Given the description of an element on the screen output the (x, y) to click on. 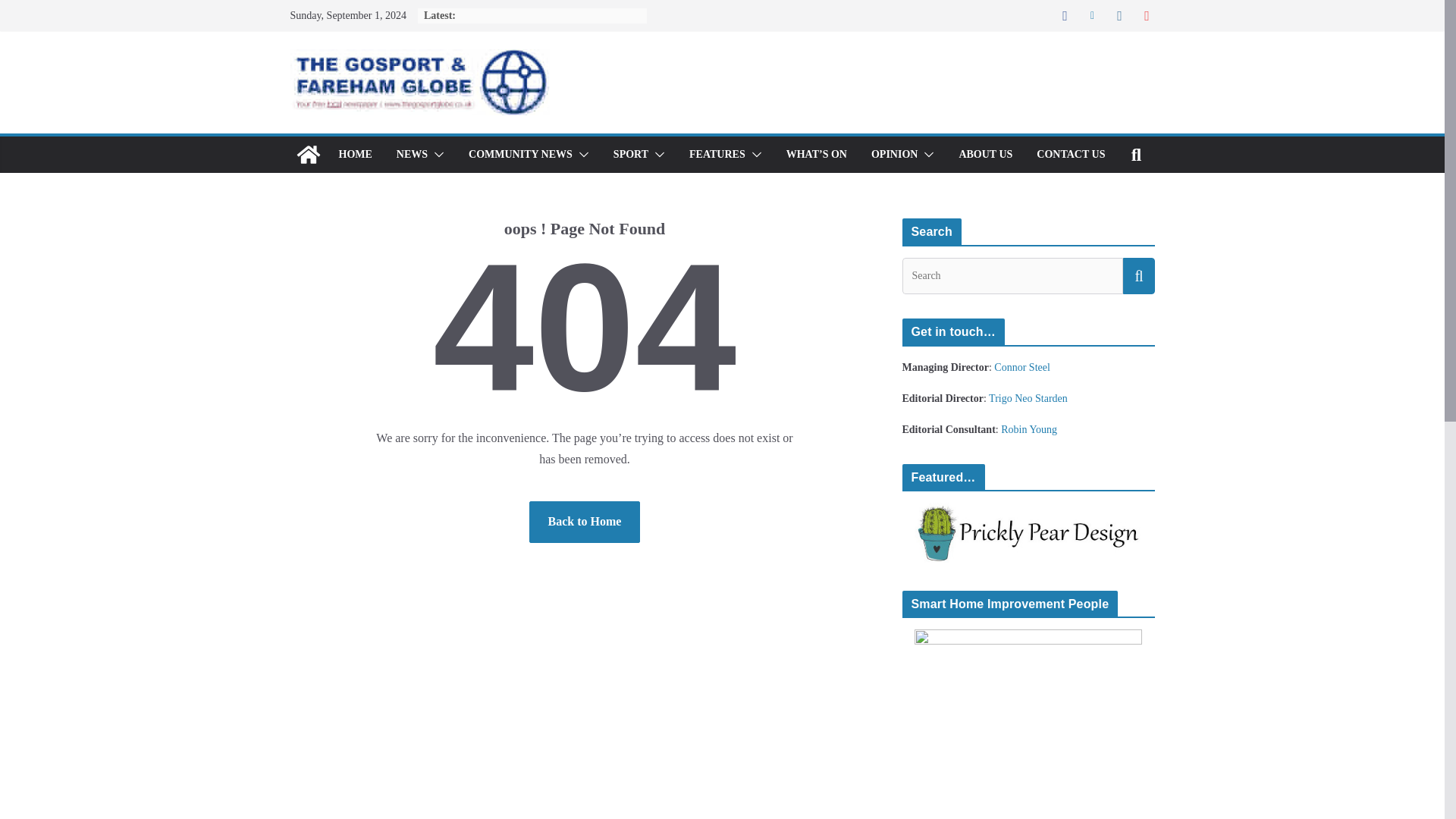
OPINION (893, 154)
NEWS (412, 154)
COMMUNITY NEWS (520, 154)
SPORT (629, 154)
HOME (354, 154)
The Gosport and Fareham Globe (307, 154)
FEATURES (716, 154)
